Given the description of an element on the screen output the (x, y) to click on. 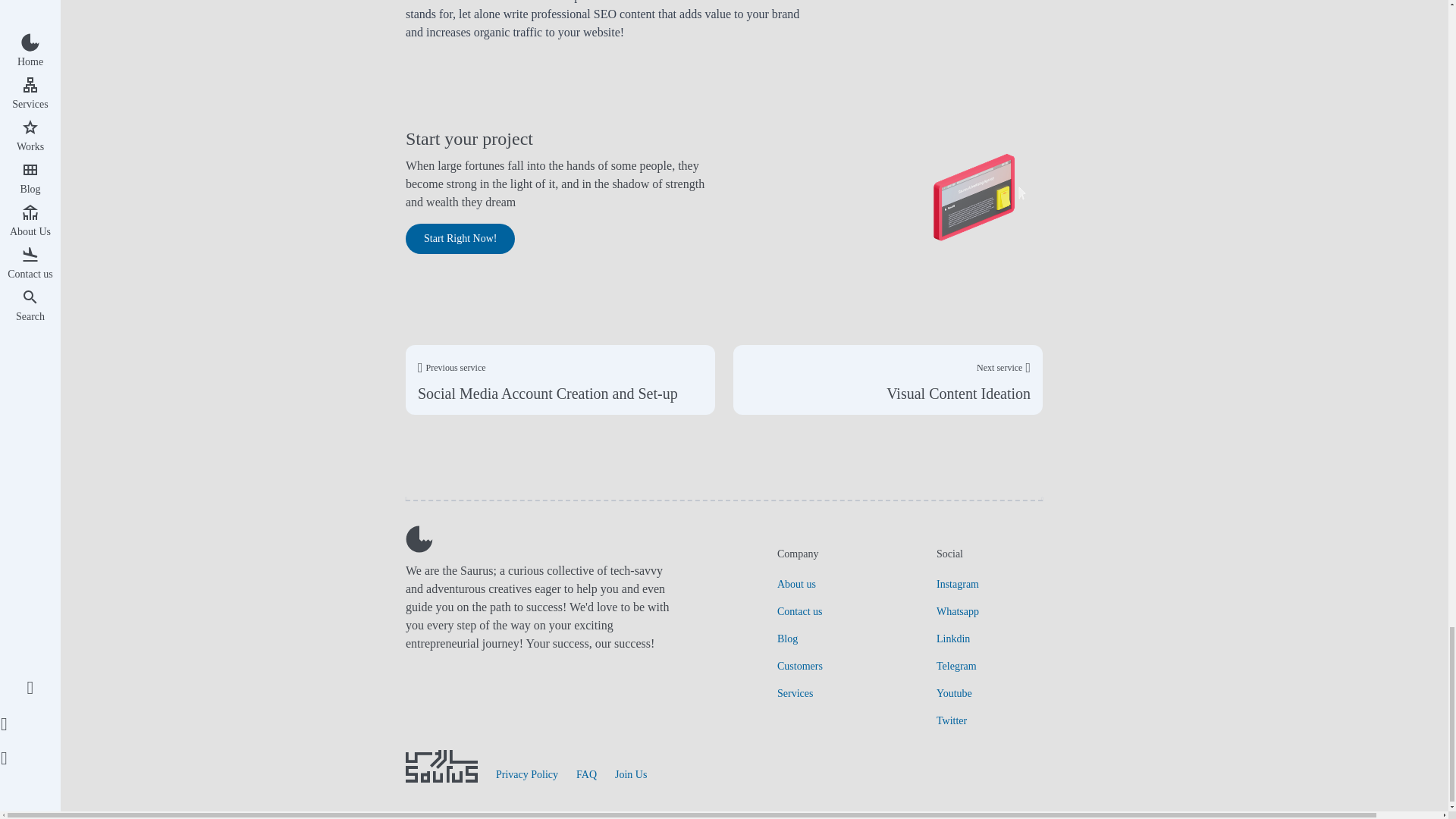
Start Right Now! (460, 238)
